Given the description of an element on the screen output the (x, y) to click on. 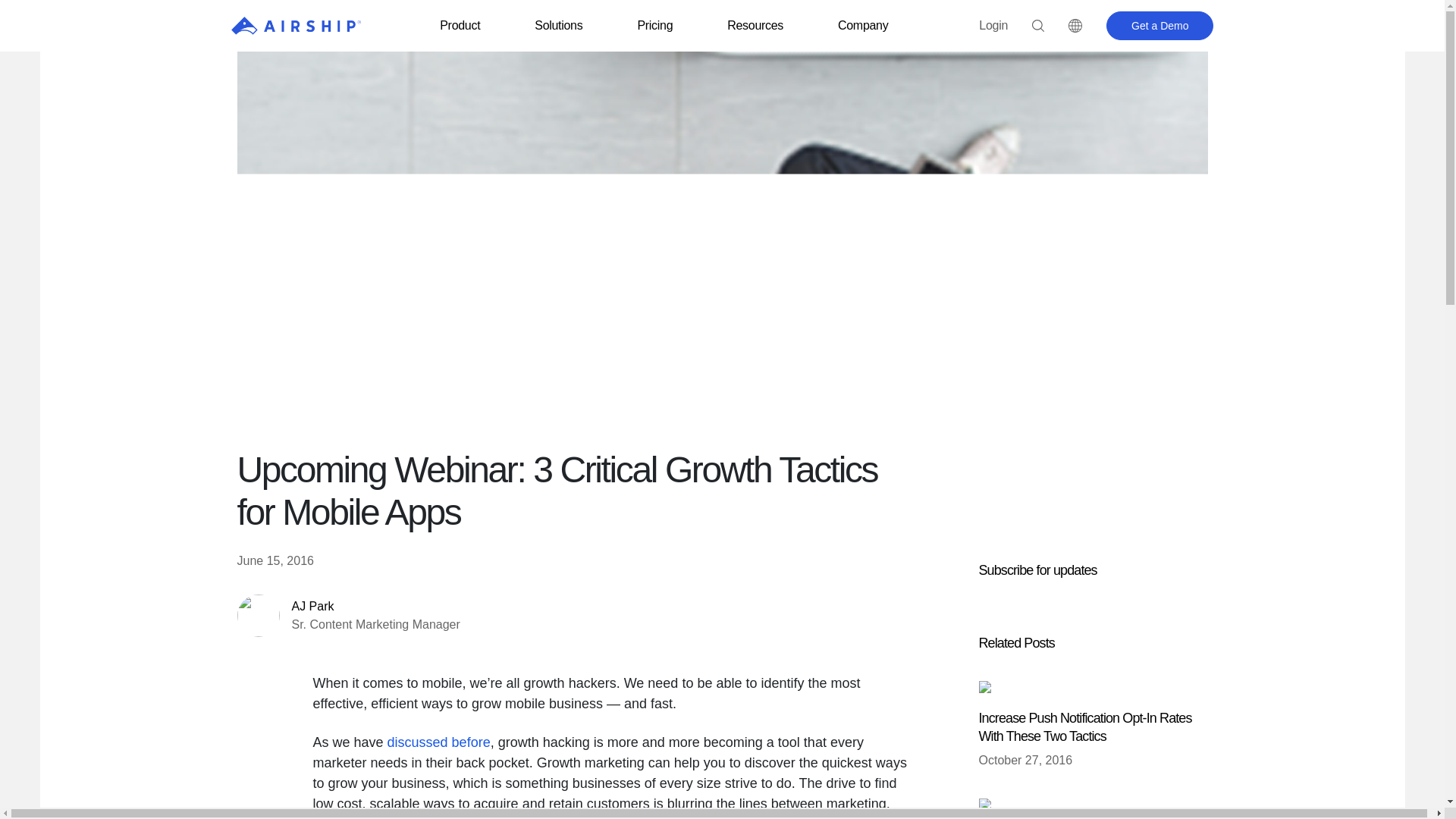
Product (459, 25)
Pricing (655, 25)
Solutions (558, 25)
